Given the description of an element on the screen output the (x, y) to click on. 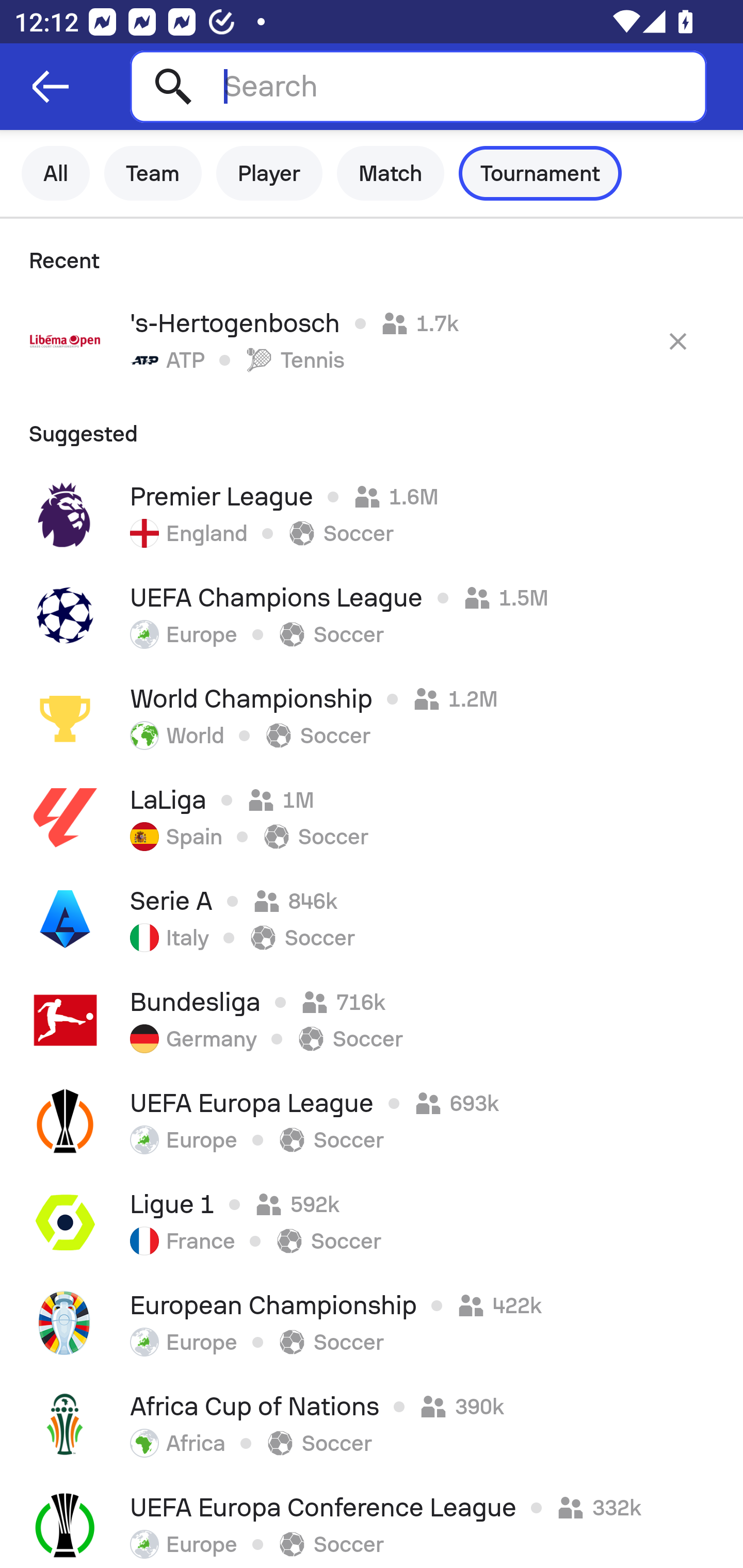
Navigate up (50, 86)
Search (418, 86)
All (55, 172)
Team (152, 172)
Player (268, 172)
Match (390, 172)
Tournament (540, 172)
Recent (371, 254)
's-Hertogenbosch 1.7k ATP Tennis (371, 341)
Suggested (371, 428)
Premier League 1.6M England Soccer (371, 515)
UEFA Champions League 1.5M Europe Soccer (371, 616)
World Championship 1.2M World Soccer (371, 716)
LaLiga 1M Spain Soccer (371, 817)
Serie A 846k Italy Soccer (371, 918)
Bundesliga 716k Germany Soccer (371, 1019)
UEFA Europa League 693k Europe Soccer (371, 1120)
Ligue 1 592k France Soccer (371, 1222)
European Championship 422k Europe Soccer (371, 1323)
Africa Cup of Nations 390k Africa Soccer (371, 1424)
UEFA Europa Conference League 332k Europe Soccer (371, 1521)
